Given the description of an element on the screen output the (x, y) to click on. 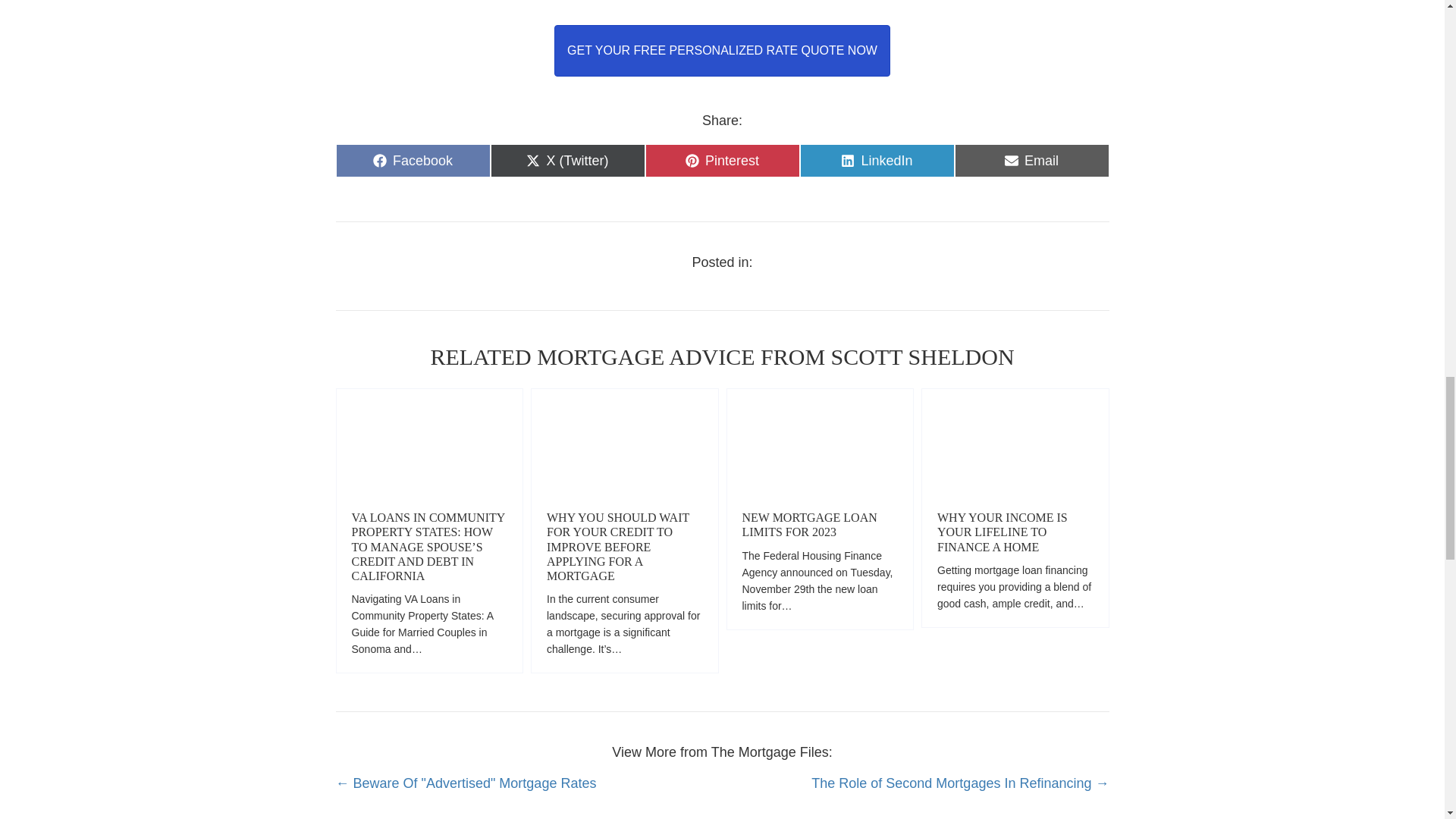
New Mortgage Loan Limits for 2023 (819, 441)
NEW MORTGAGE LOAN LIMITS FOR 2023 (876, 160)
Why your income is your lifeline to finance a home (808, 524)
WHY YOUR INCOME IS YOUR LIFELINE TO FINANCE A HOME (1030, 160)
New Mortgage Loan Limits for 2023 (1014, 441)
GET YOUR FREE PERSONALIZED RATE QUOTE NOW (1002, 531)
Why your income is your lifeline to finance a home (808, 524)
